Given the description of an element on the screen output the (x, y) to click on. 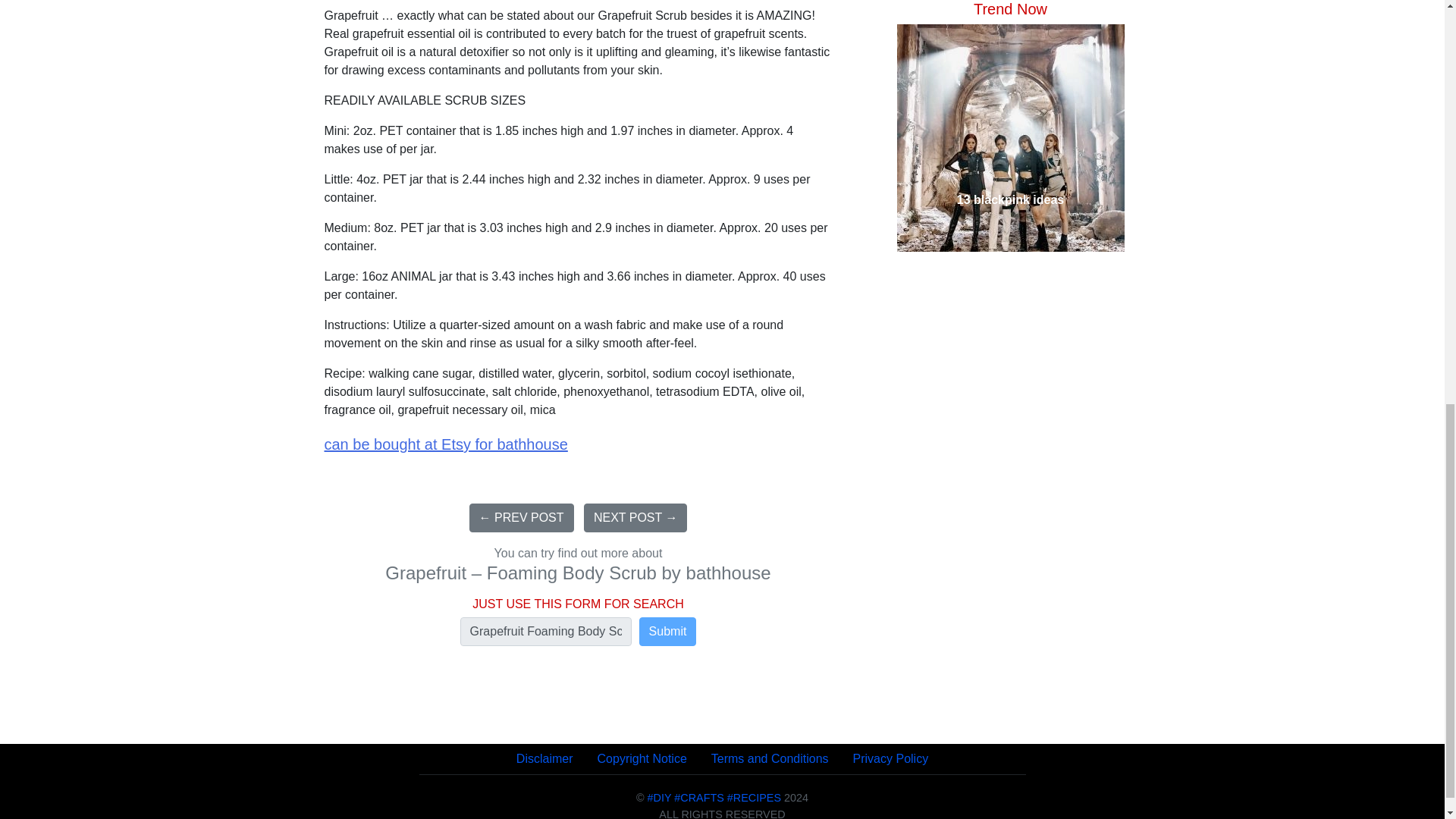
Submit (668, 631)
can be bought at Etsy for bathhouse (445, 443)
Grapefruit Foaming Body Scrub by (545, 631)
13 blackpink ideas (1009, 11)
